Given the description of an element on the screen output the (x, y) to click on. 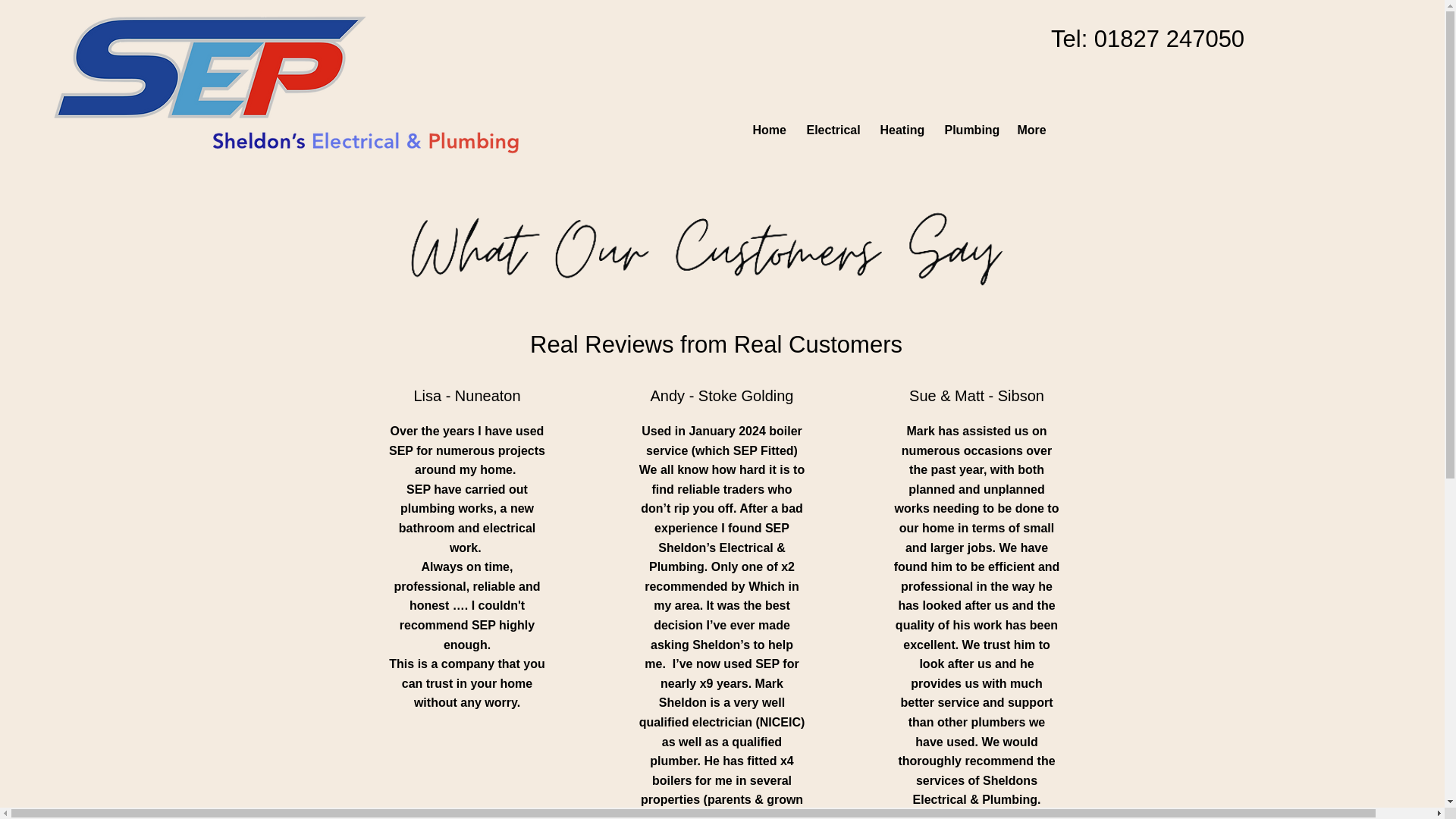
what-our-customers-say-about-us.png (709, 255)
Home (767, 130)
Electrical (830, 130)
Heating (901, 130)
Plumbing (969, 130)
